Given the description of an element on the screen output the (x, y) to click on. 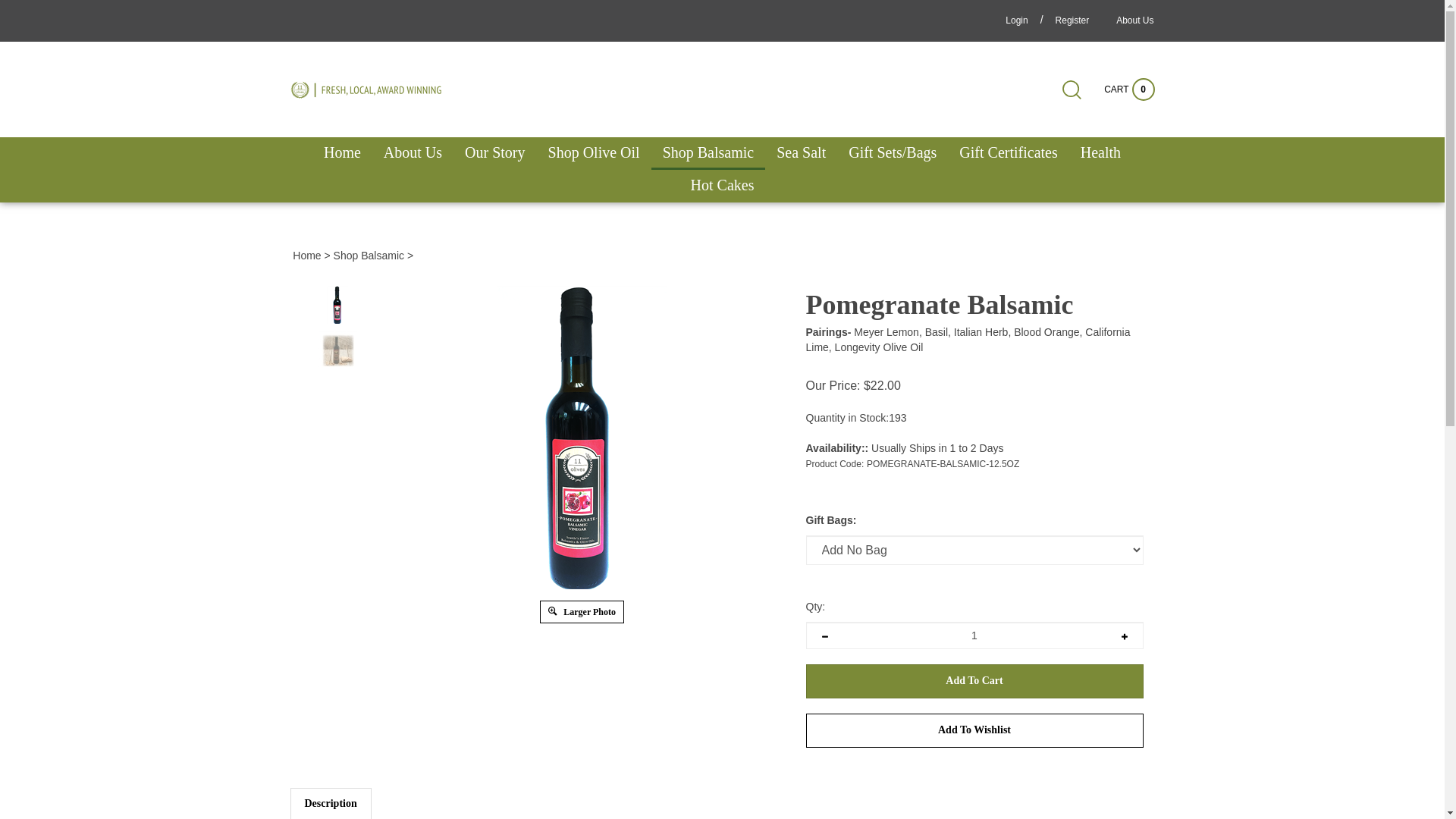
Pomegranate Balsamic Element type: hover (337, 350)
Register Element type: text (1072, 20)
About Us Element type: text (412, 153)
Shop Olive Oil Element type: text (593, 153)
Gift Certificates Element type: text (1007, 153)
minus Element type: text (824, 635)
Our Story Element type: text (494, 153)
Larger Photo Element type: text (581, 611)
Home Element type: text (342, 153)
store.11olives.com Element type: hover (365, 89)
Pomegranate Balsamic Element type: hover (581, 437)
Shop Balsamic Element type: text (708, 153)
CART 0 Element type: text (1129, 88)
Login Element type: text (1016, 20)
Health Element type: text (1100, 153)
plus Element type: text (1124, 635)
Gift Sets/Bags Element type: text (892, 153)
Home Element type: text (306, 255)
Add To Wishlist Element type: text (973, 730)
Hot Cakes Element type: text (722, 185)
Sea Salt Element type: text (801, 153)
Add To Cart Element type: text (973, 681)
About Us Element type: text (1134, 20)
Shop Balsamic Element type: text (368, 255)
Pomegranate Balsamic Element type: hover (582, 437)
Pomegranate Balsamic Element type: hover (337, 304)
Quantity Element type: hover (973, 635)
